Given the description of an element on the screen output the (x, y) to click on. 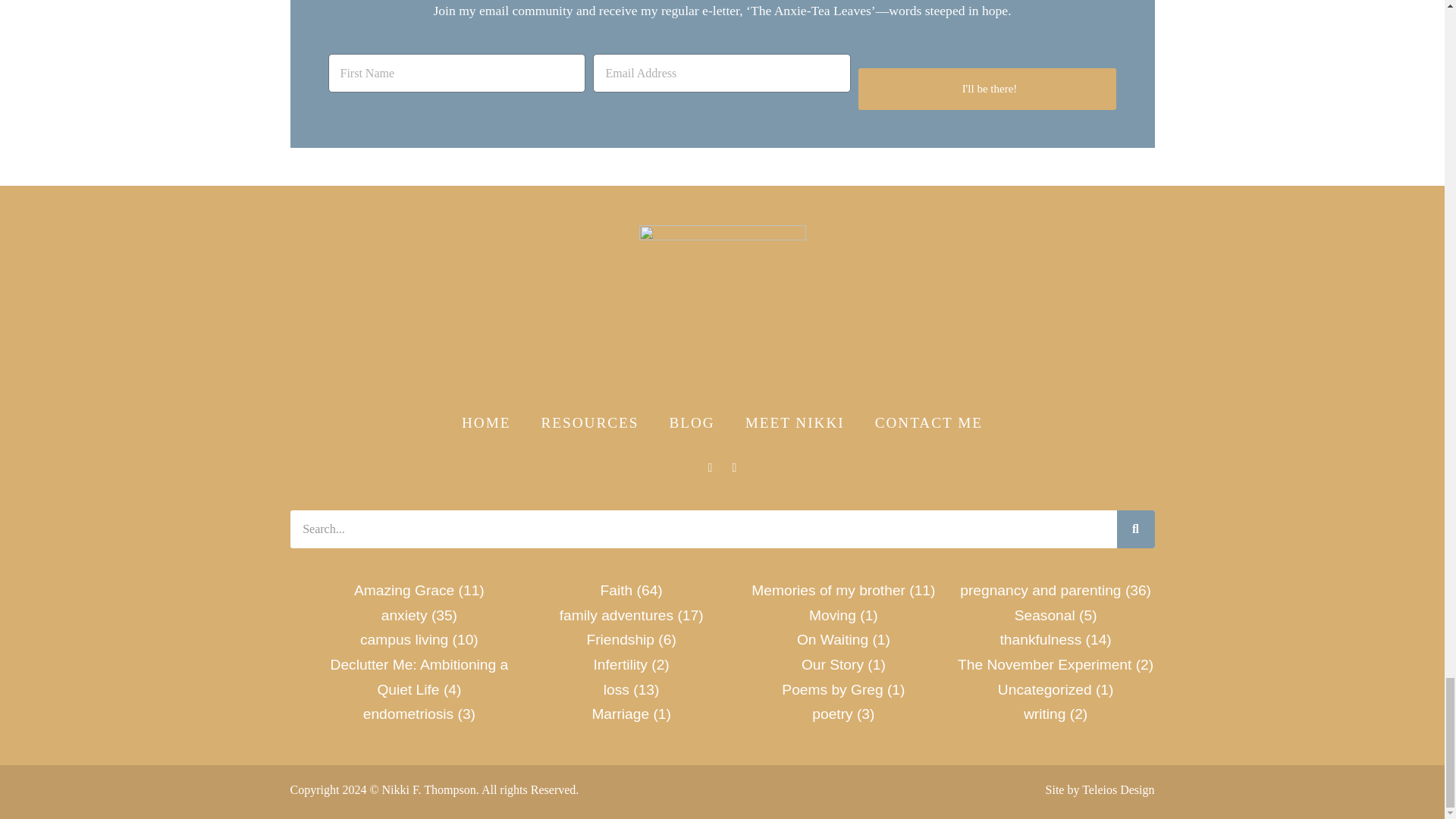
RESOURCES (589, 422)
I'll be there! (987, 88)
CONTACT ME (928, 422)
HOME (485, 422)
BLOG (691, 422)
MEET NIKKI (795, 422)
